Given the description of an element on the screen output the (x, y) to click on. 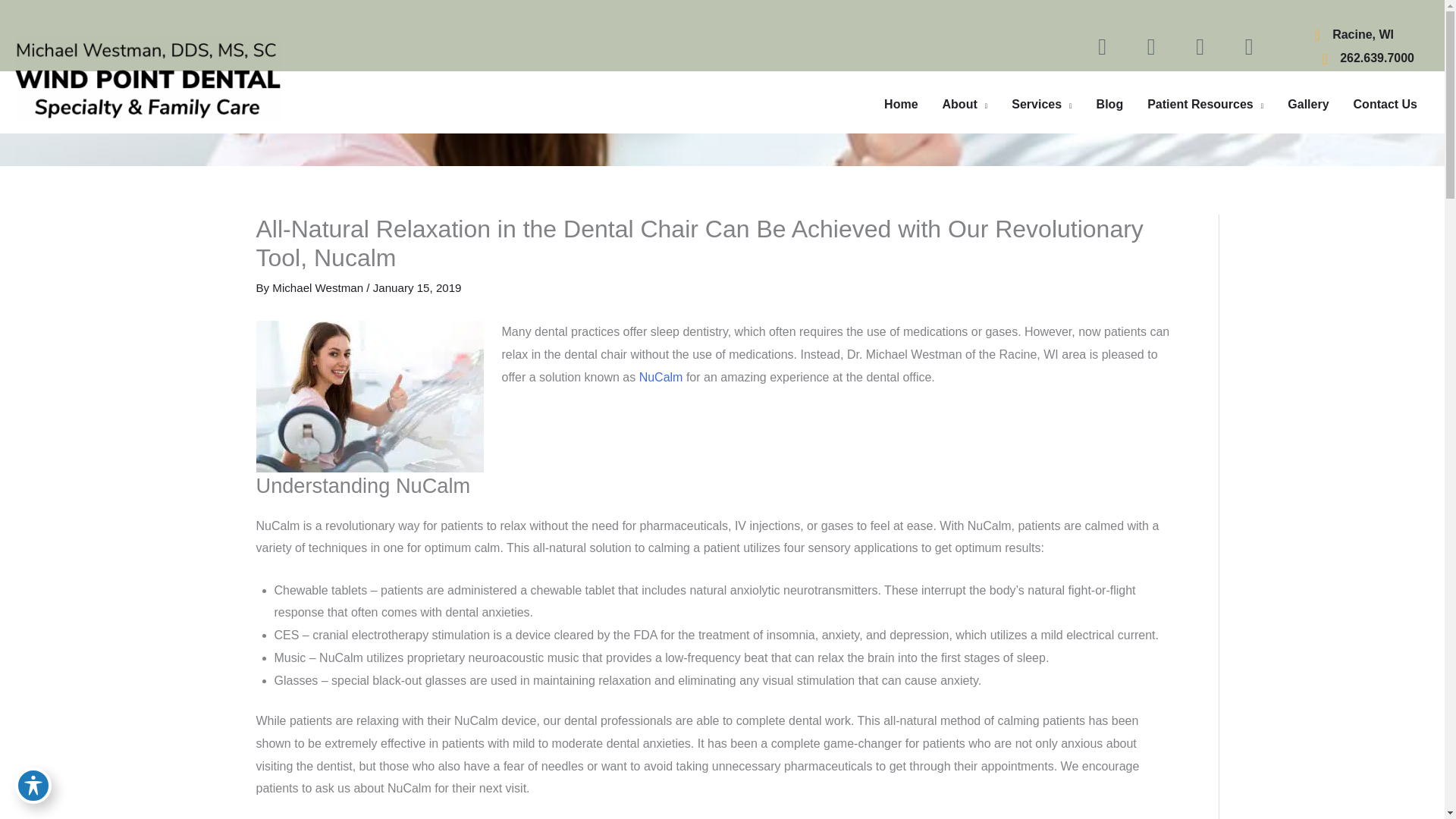
Home (901, 104)
NuCalm (369, 396)
Racine, WI (1362, 34)
About (965, 104)
262.639.7000 (1376, 57)
Services (1040, 104)
View all posts by Michael Westman (319, 287)
